Given the description of an element on the screen output the (x, y) to click on. 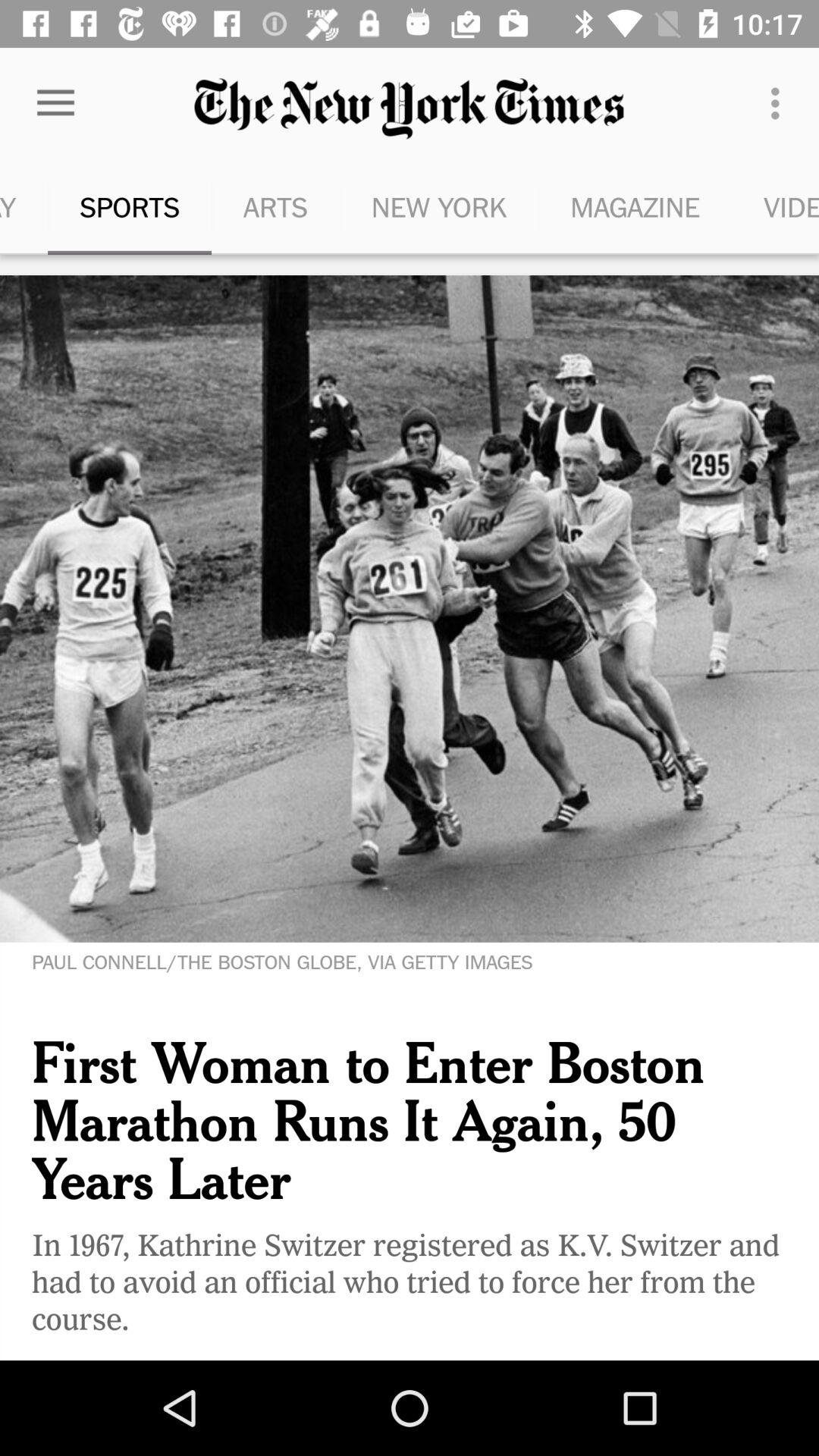
choose arts item (275, 206)
